Given the description of an element on the screen output the (x, y) to click on. 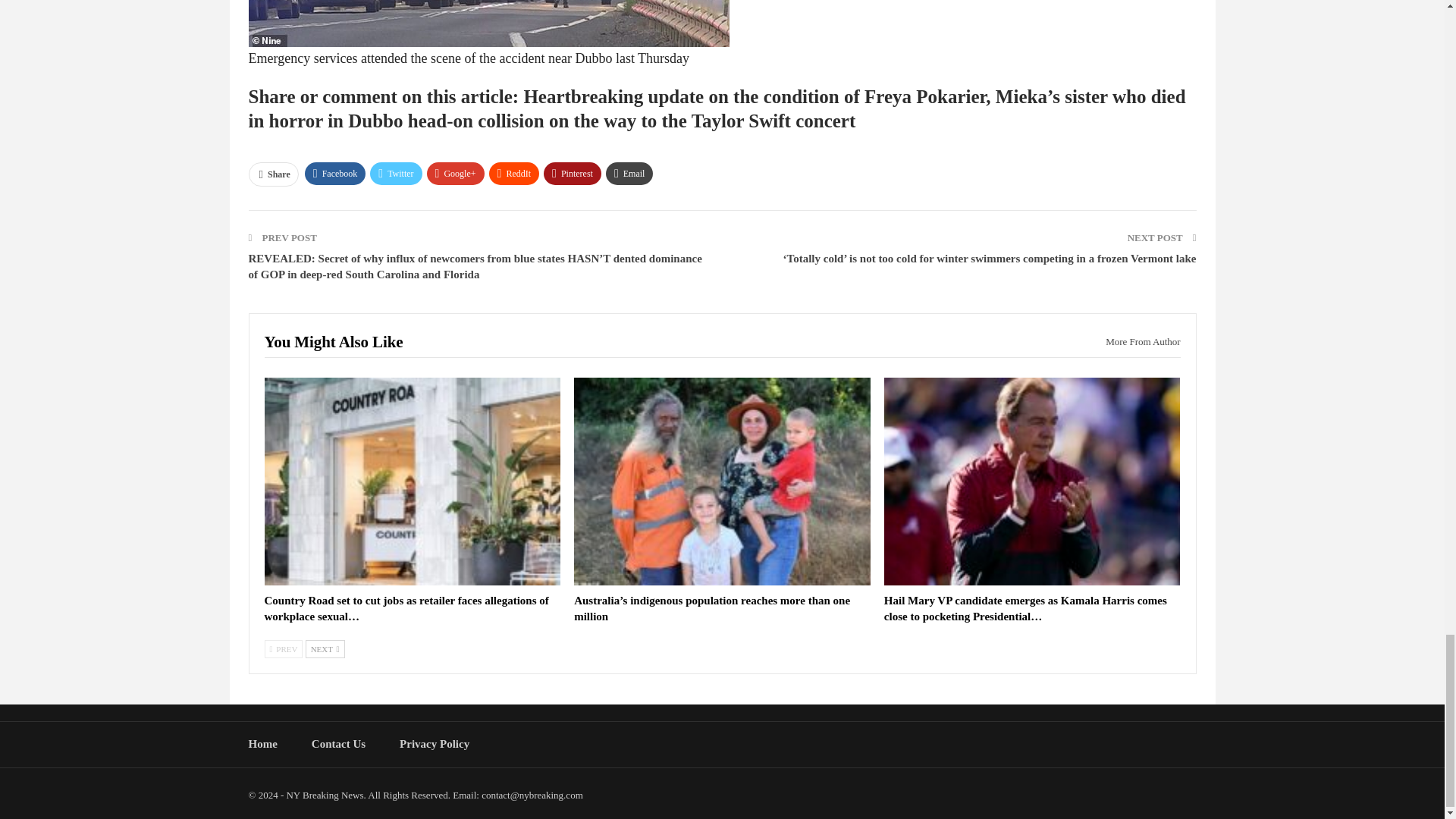
Previous (282, 648)
Pinterest (572, 173)
Facebook (335, 173)
ReddIt (514, 173)
Twitter (395, 173)
Next (325, 648)
